Given the description of an element on the screen output the (x, y) to click on. 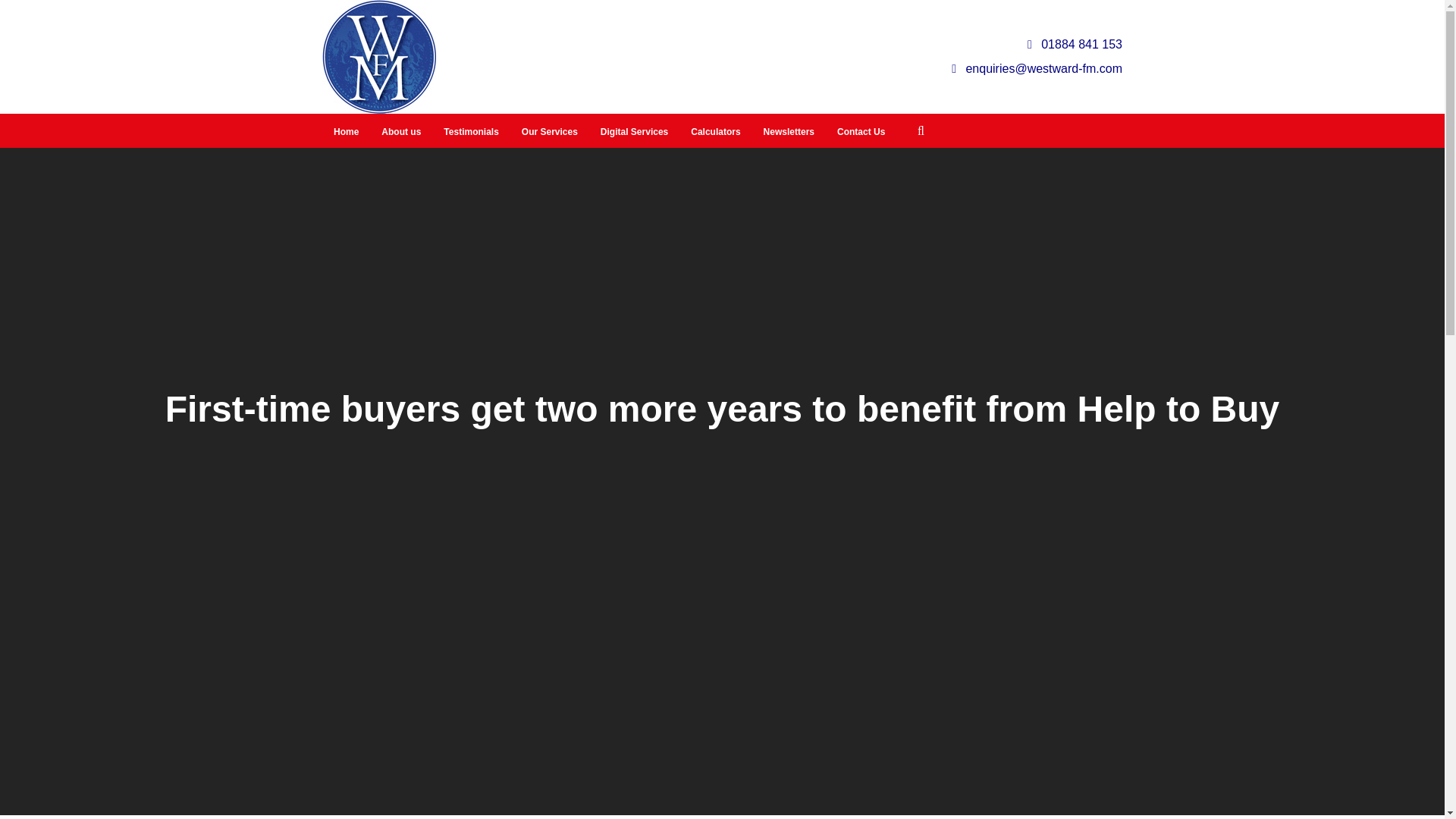
Newsletters (788, 131)
Testimonials (470, 131)
Calculators (715, 131)
Our Services (550, 131)
About us (400, 131)
01884 841 153 (1074, 43)
Contact Us (860, 131)
Home (345, 131)
Digital Services (634, 131)
